Given the description of an element on the screen output the (x, y) to click on. 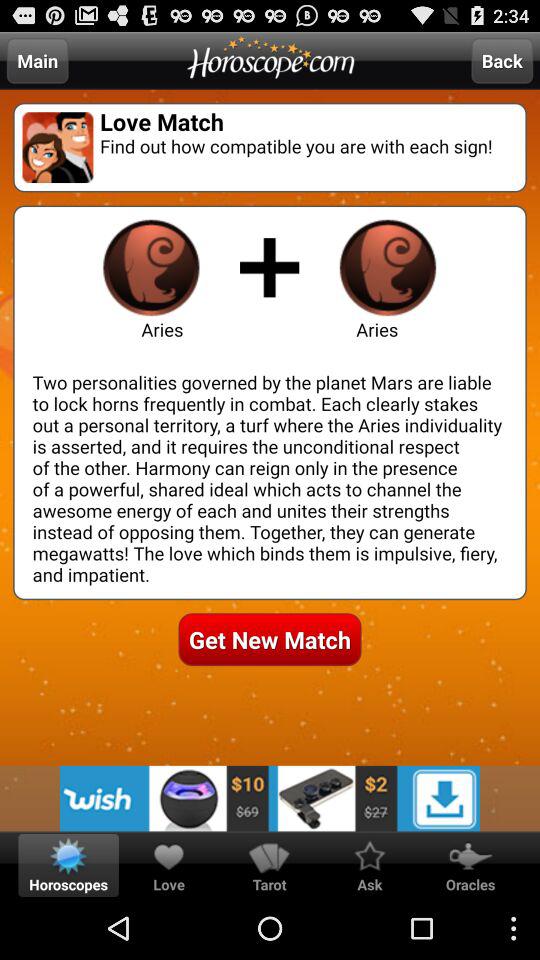
advertisement (270, 798)
